Given the description of an element on the screen output the (x, y) to click on. 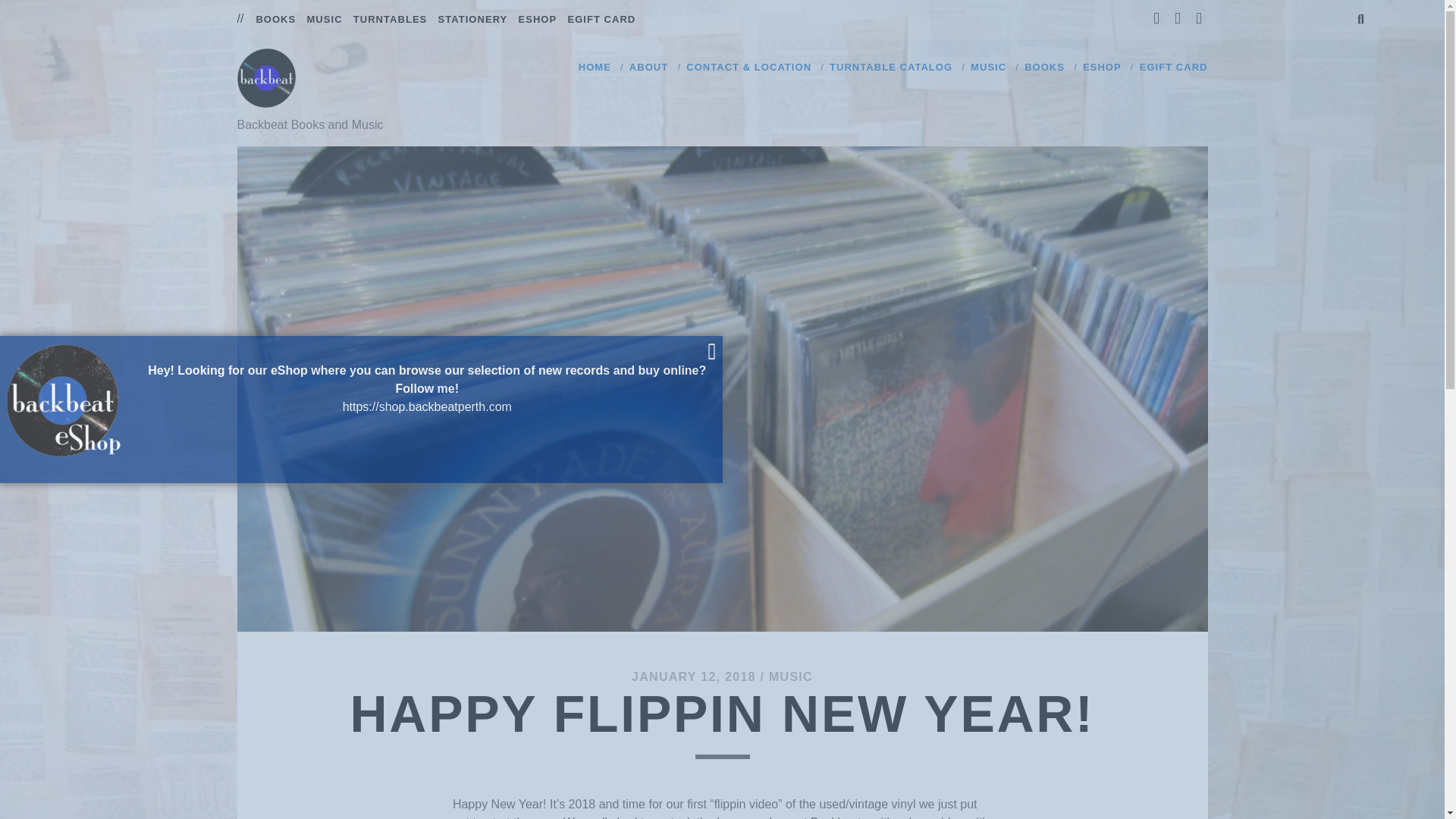
TURNTABLE CATALOG (890, 67)
STATIONERY (473, 19)
BOOKS (1044, 67)
TURNTABLES (390, 19)
EGIFT CARD (1174, 67)
MUSIC (988, 67)
ESHOP (537, 19)
MUSIC (790, 676)
ABOUT (648, 67)
BOOKS (275, 19)
